Given the description of an element on the screen output the (x, y) to click on. 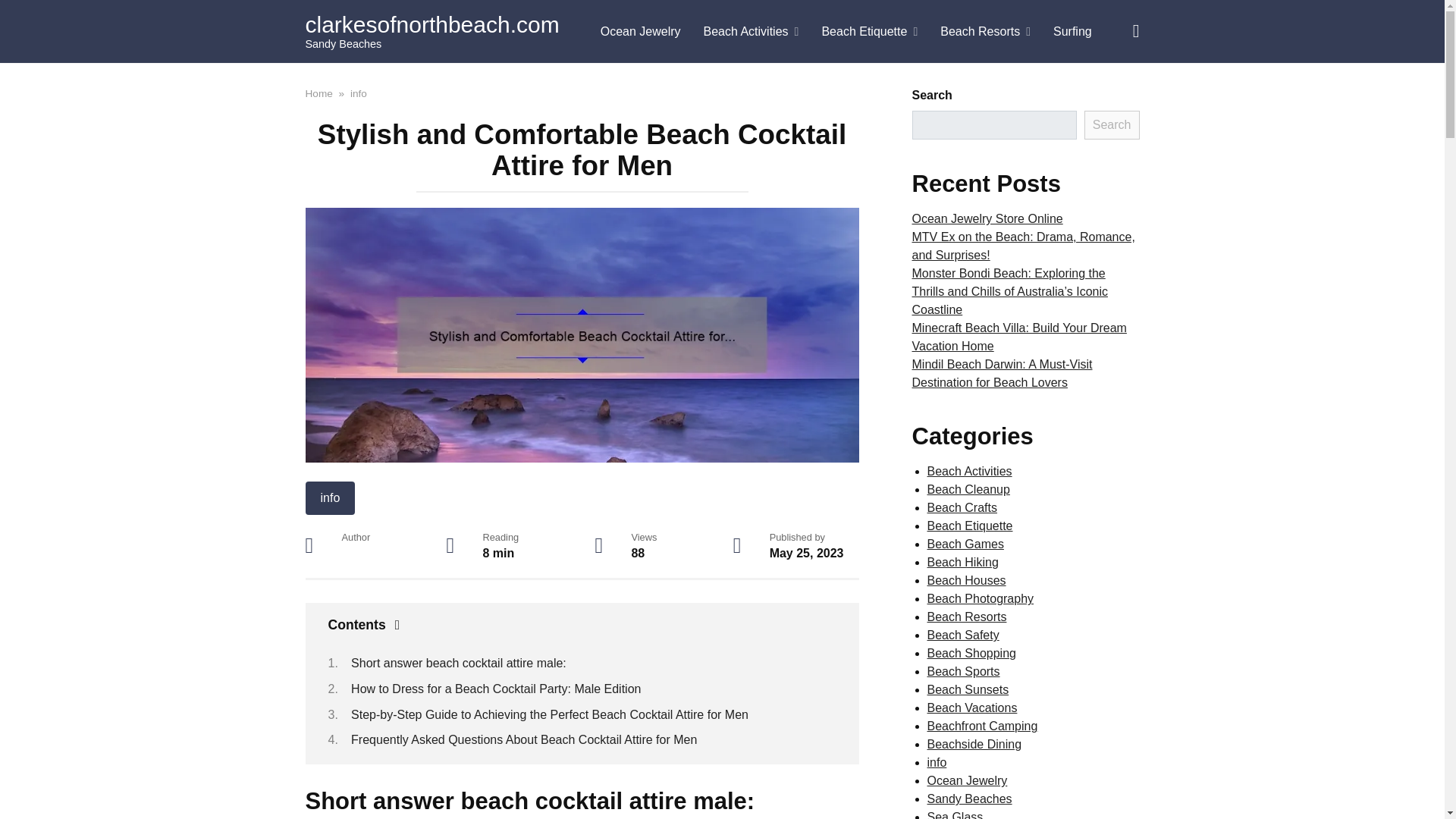
info (329, 498)
How to Dress for a Beach Cocktail Party: Male Edition (495, 688)
Ocean Jewelry (641, 31)
Surfing (1072, 31)
Beach Resorts (985, 31)
Short answer beach cocktail attire male: (458, 662)
info (358, 93)
clarkesofnorthbeach.com (431, 24)
Beach Etiquette (868, 31)
Home (317, 93)
Beach Activities (751, 31)
